Given the description of an element on the screen output the (x, y) to click on. 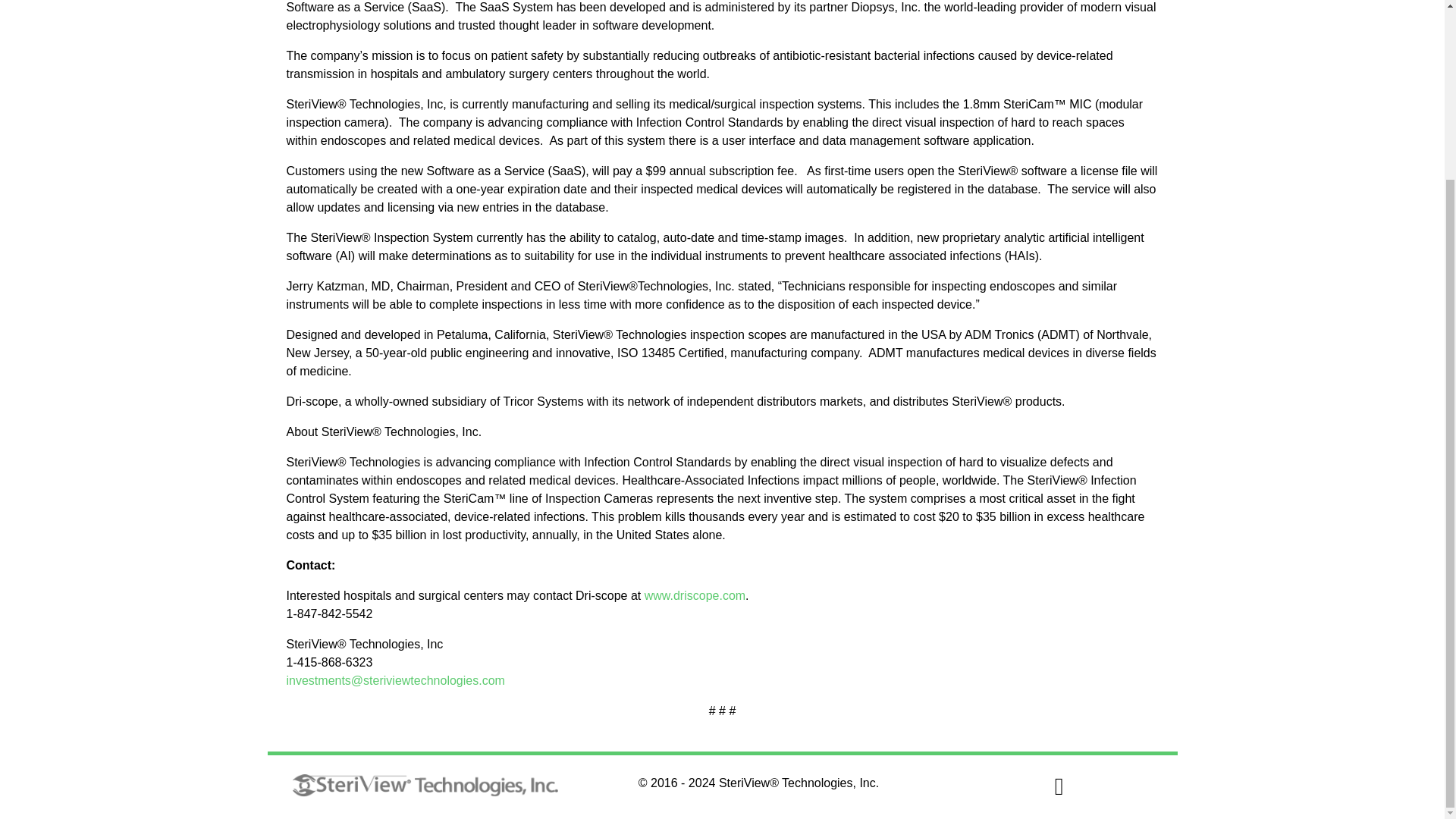
www.driscope.com (695, 594)
